Given the description of an element on the screen output the (x, y) to click on. 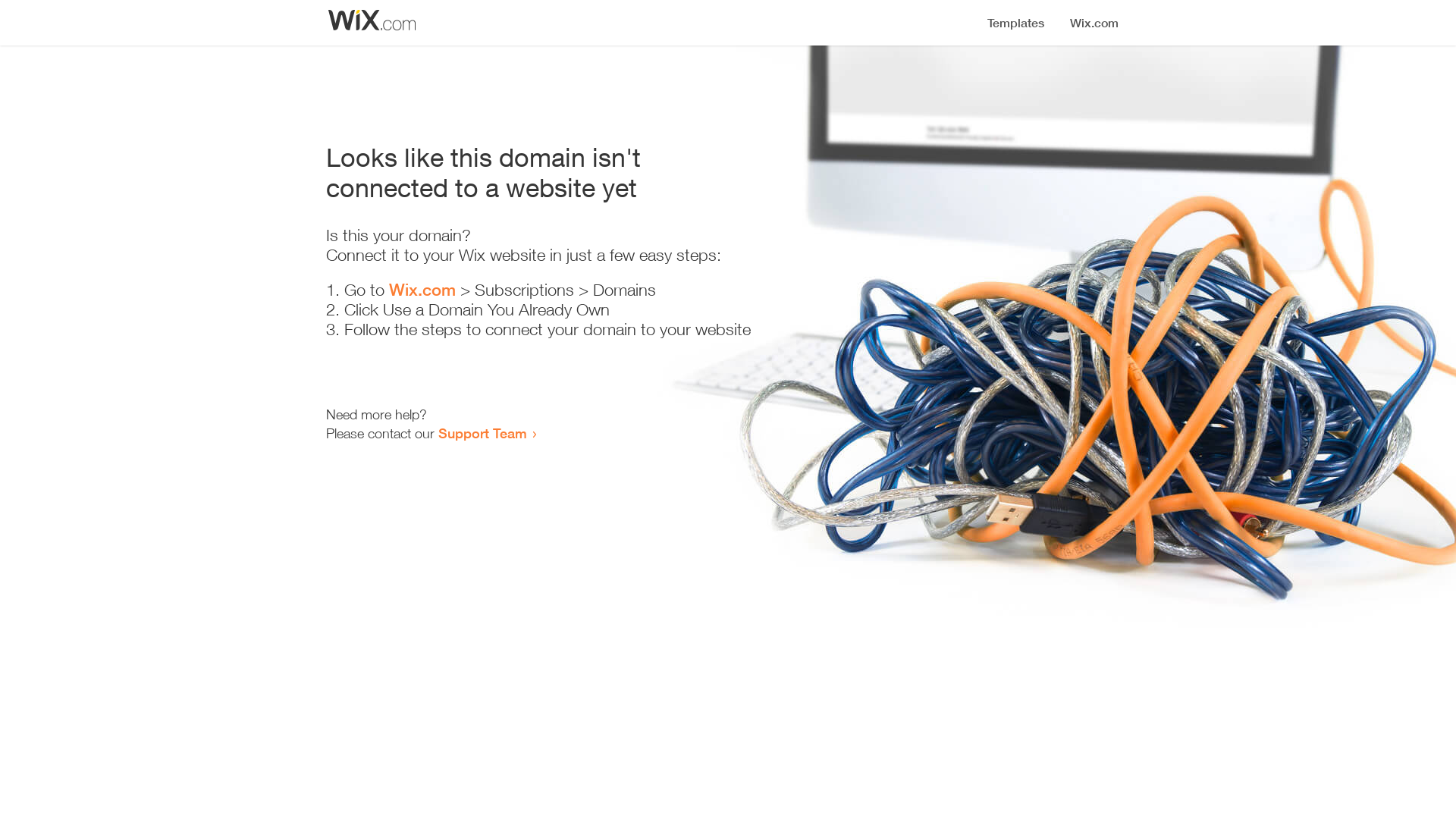
Wix.com Element type: text (422, 289)
Support Team Element type: text (482, 432)
